Given the description of an element on the screen output the (x, y) to click on. 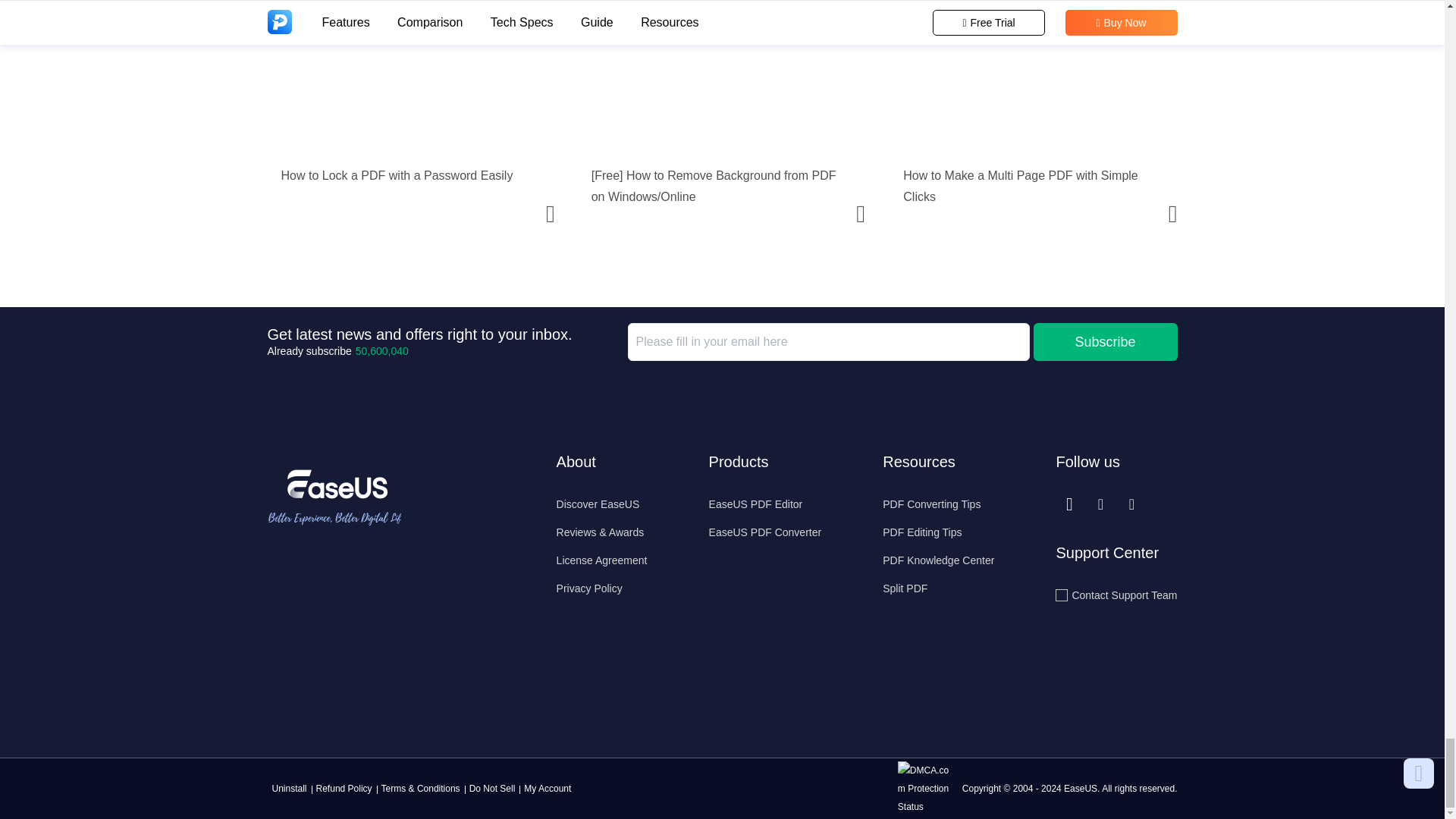
DMCA.com Protection Status (928, 787)
Customer reviews powered by Trustpilot (341, 635)
